Given the description of an element on the screen output the (x, y) to click on. 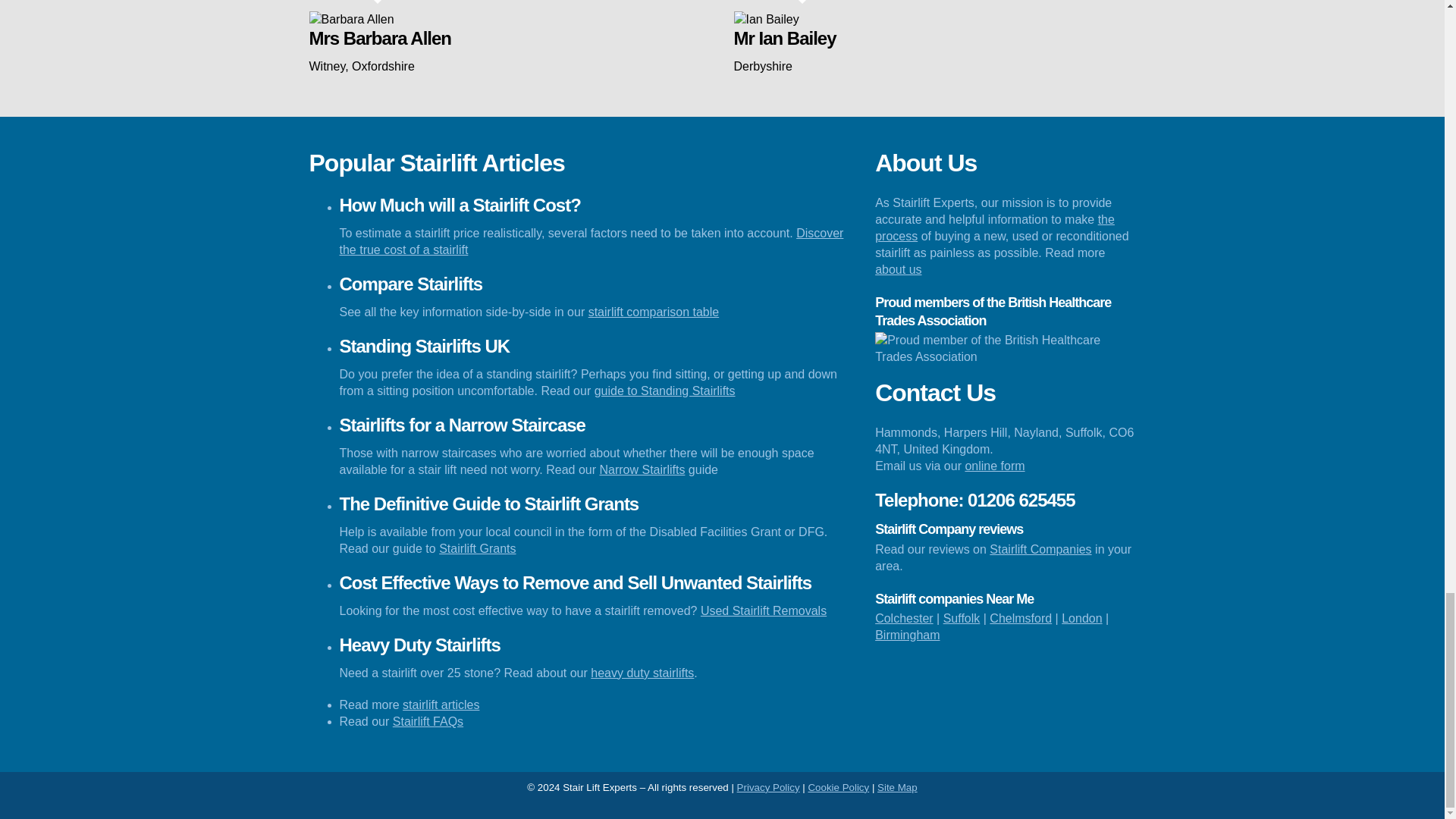
Stairlift Grants (477, 548)
Stairlift Companies (1040, 549)
stairlift comparison table (653, 311)
Suffolk (961, 617)
Birmingham (907, 634)
heavy duty stairlifts (642, 672)
about us (898, 269)
Discover the true cost of a stairlift (591, 241)
Stairlift FAQs (428, 721)
online form (994, 465)
